Given the description of an element on the screen output the (x, y) to click on. 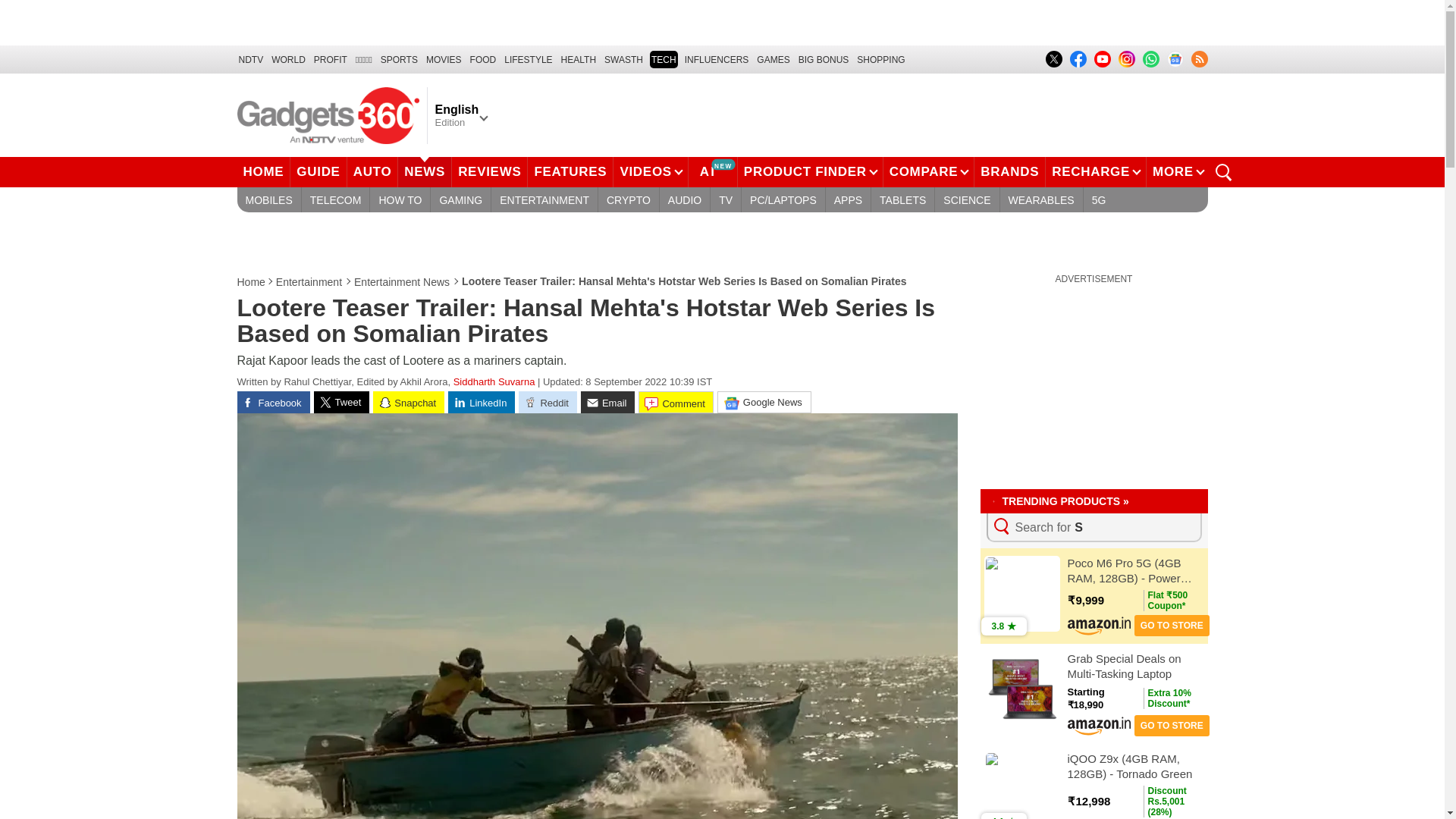
FOOD (482, 58)
GAMES (772, 58)
PROFIT (331, 58)
SWASTH (623, 58)
BIG BONUS (823, 58)
WORLD (288, 58)
World (288, 58)
REVIEWS (489, 172)
NDTV (249, 58)
LIFESTYLE (527, 58)
